Given the description of an element on the screen output the (x, y) to click on. 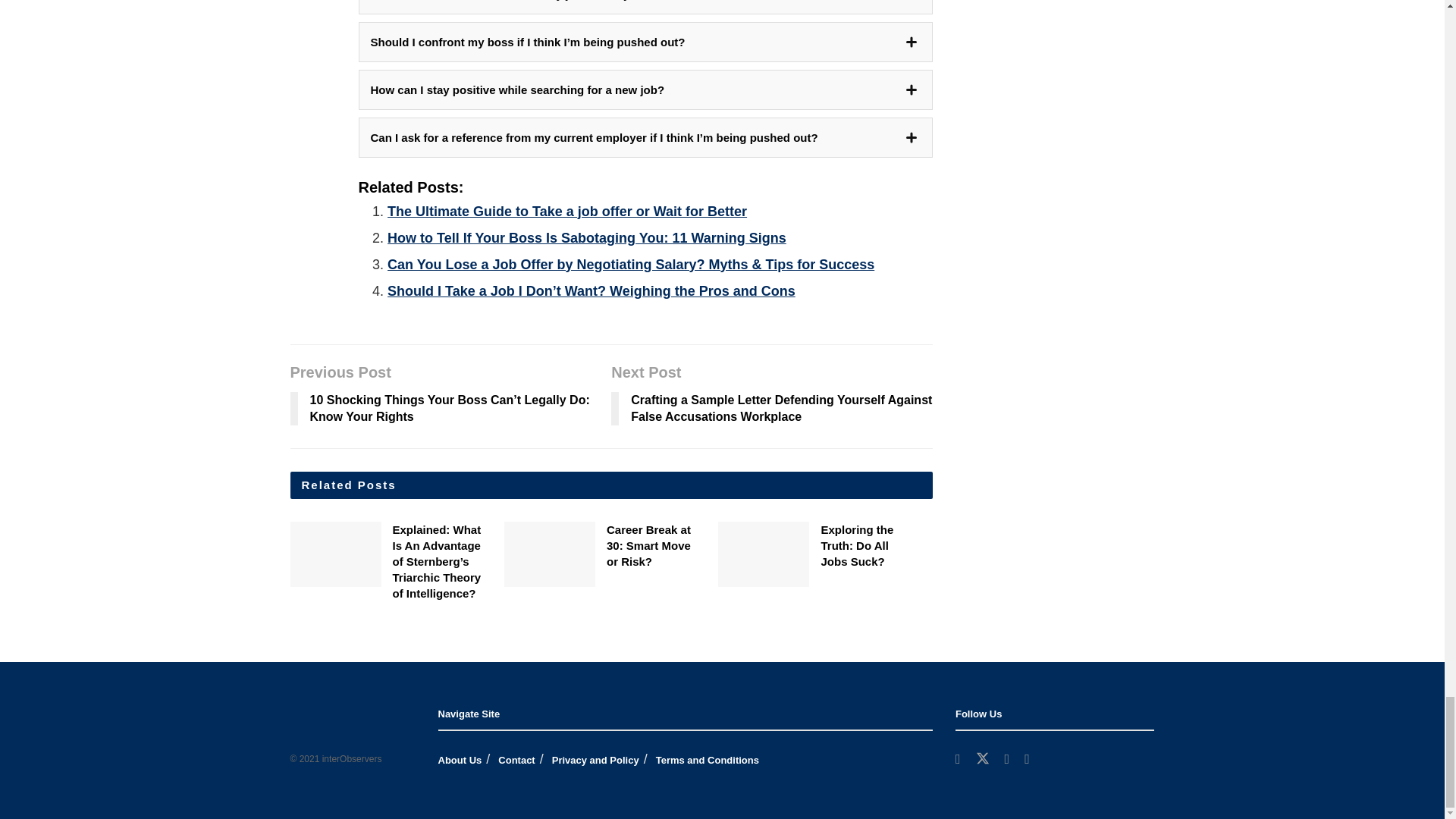
How to Tell If Your Boss Is Sabotaging You: 11 Warning Signs (586, 237)
Next (944, 559)
The Ultimate Guide to Take a job offer or Wait for Better (566, 211)
Previous (944, 535)
